Given the description of an element on the screen output the (x, y) to click on. 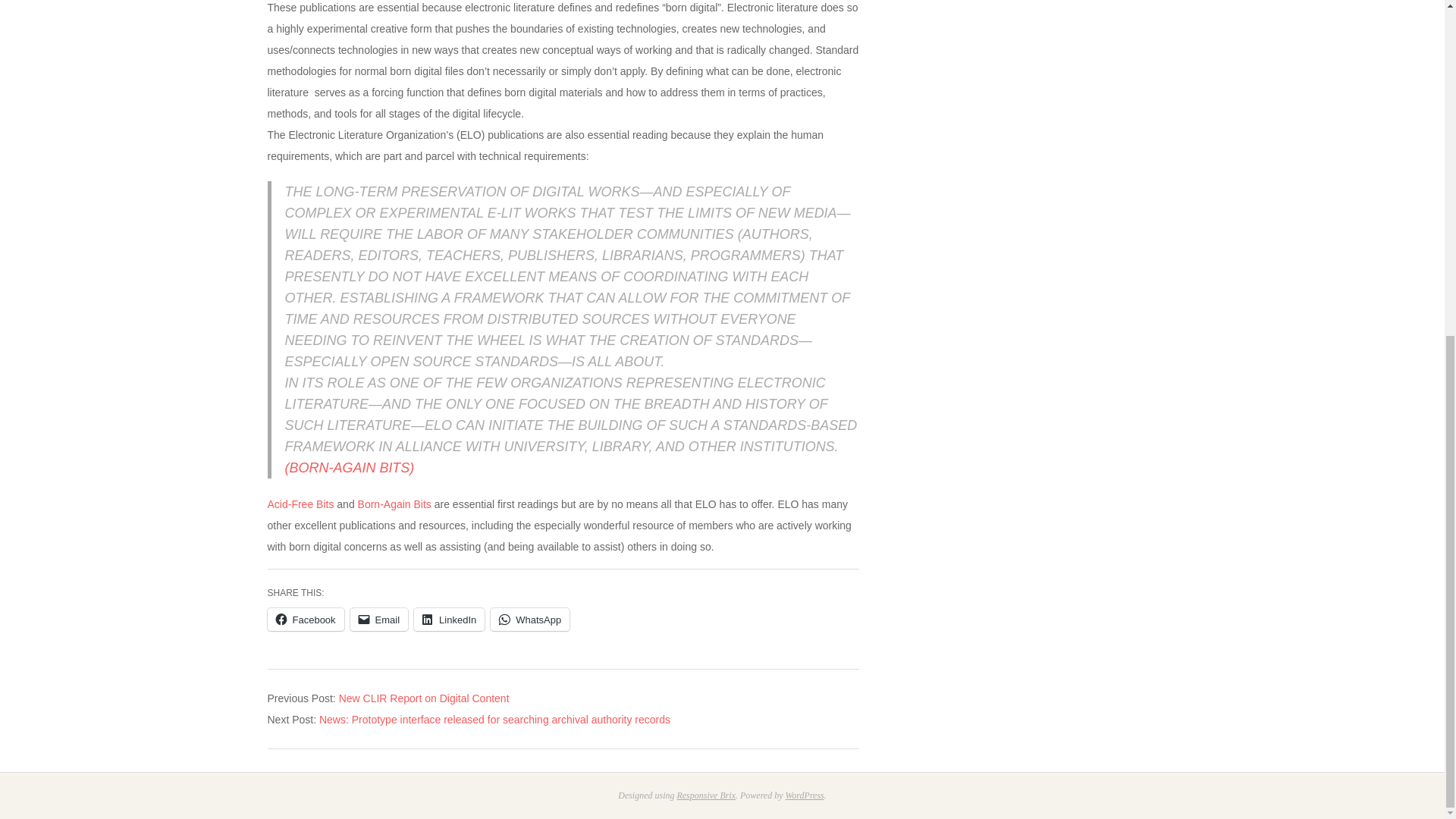
Email (379, 619)
Click to share on Facebook (304, 619)
LinkedIn (448, 619)
Born-Again Bits (392, 503)
Click to share on LinkedIn (448, 619)
WhatsApp (529, 619)
Click to share on WhatsApp (529, 619)
New CLIR Report on Digital Content (424, 698)
WordPress (804, 795)
